Given the description of an element on the screen output the (x, y) to click on. 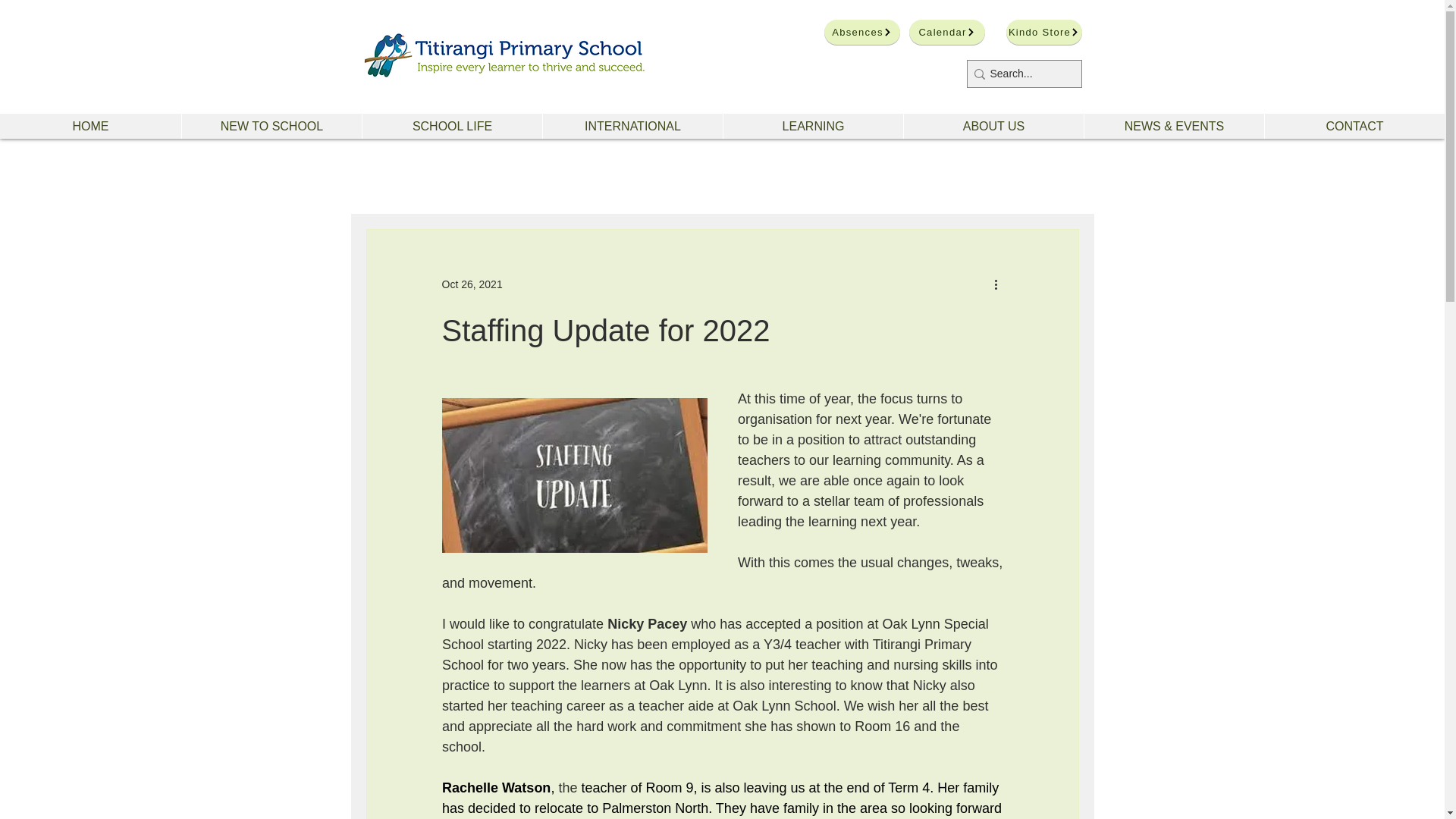
Oct 26, 2021 (471, 283)
Absences (861, 32)
Calendar (946, 32)
INTERNATIONAL (631, 125)
Kindo Store (1043, 32)
NEW TO SCHOOL (270, 125)
SCHOOL LIFE (451, 125)
HOME (90, 125)
ABOUT US (992, 125)
LEARNING (812, 125)
